Given the description of an element on the screen output the (x, y) to click on. 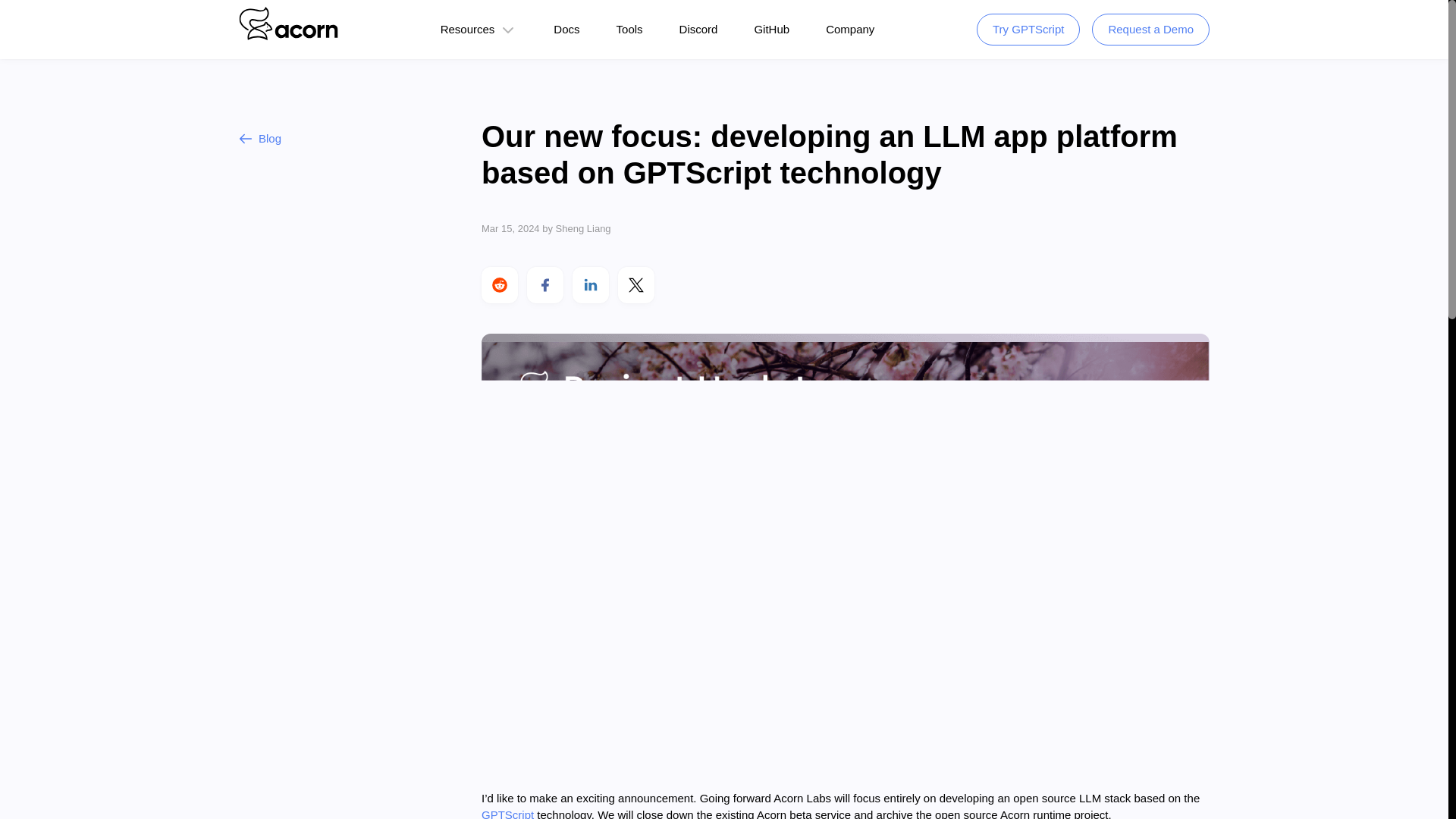
Tools (629, 29)
Resources (468, 29)
Discord (698, 29)
Try GPTScript (1028, 29)
GitHub (771, 29)
Request a Demo (1150, 29)
Docs (566, 29)
Company (850, 29)
